Given the description of an element on the screen output the (x, y) to click on. 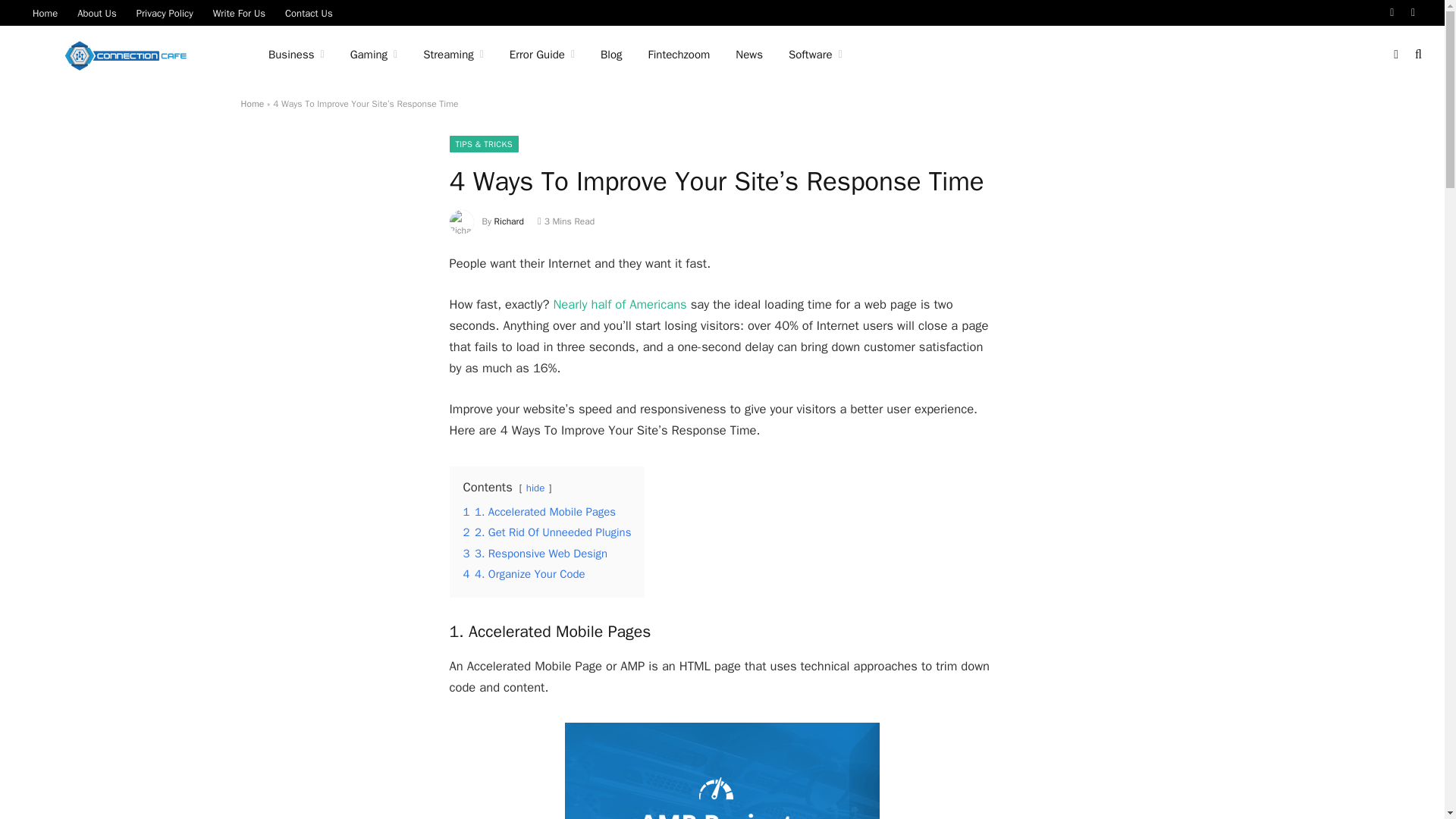
Posts by Richard (509, 221)
Privacy Policy (164, 12)
Error Guide (542, 54)
Streaming (453, 54)
About Us (95, 12)
Switch to Dark Design - easier on eyes. (1396, 54)
Gaming (373, 54)
Connection Cafe (125, 54)
Business (296, 54)
Contact Us (308, 12)
Fintechzoom (678, 54)
Home (44, 12)
News (749, 54)
Write For Us (239, 12)
Home (252, 103)
